Given the description of an element on the screen output the (x, y) to click on. 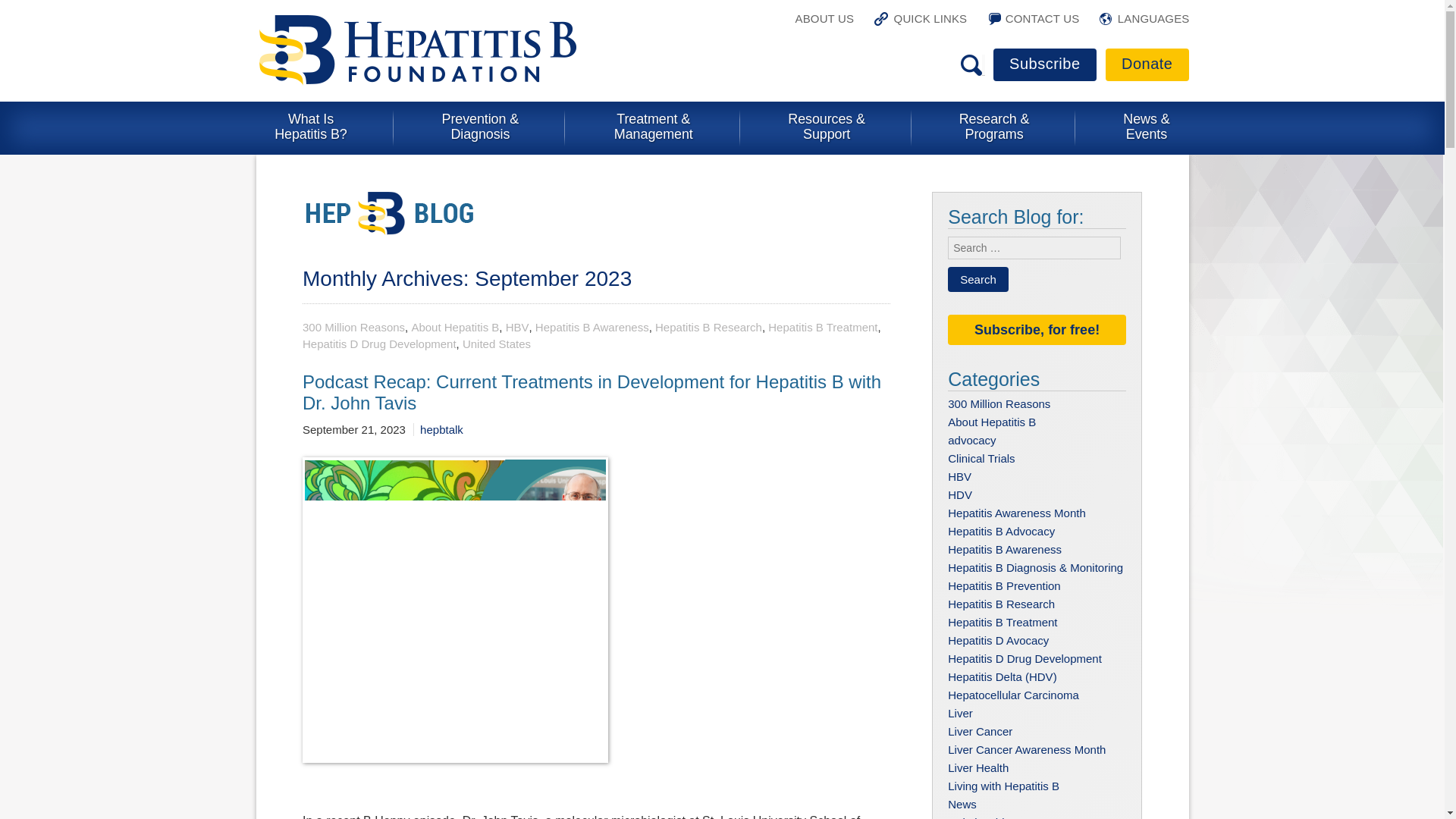
CONTACT US (1033, 25)
Donate (1147, 64)
ABOUT US (821, 25)
Search (978, 278)
LANGUAGES (1144, 25)
QUICK LINKS (921, 25)
Search (978, 278)
Subscribe (1044, 64)
